Given the description of an element on the screen output the (x, y) to click on. 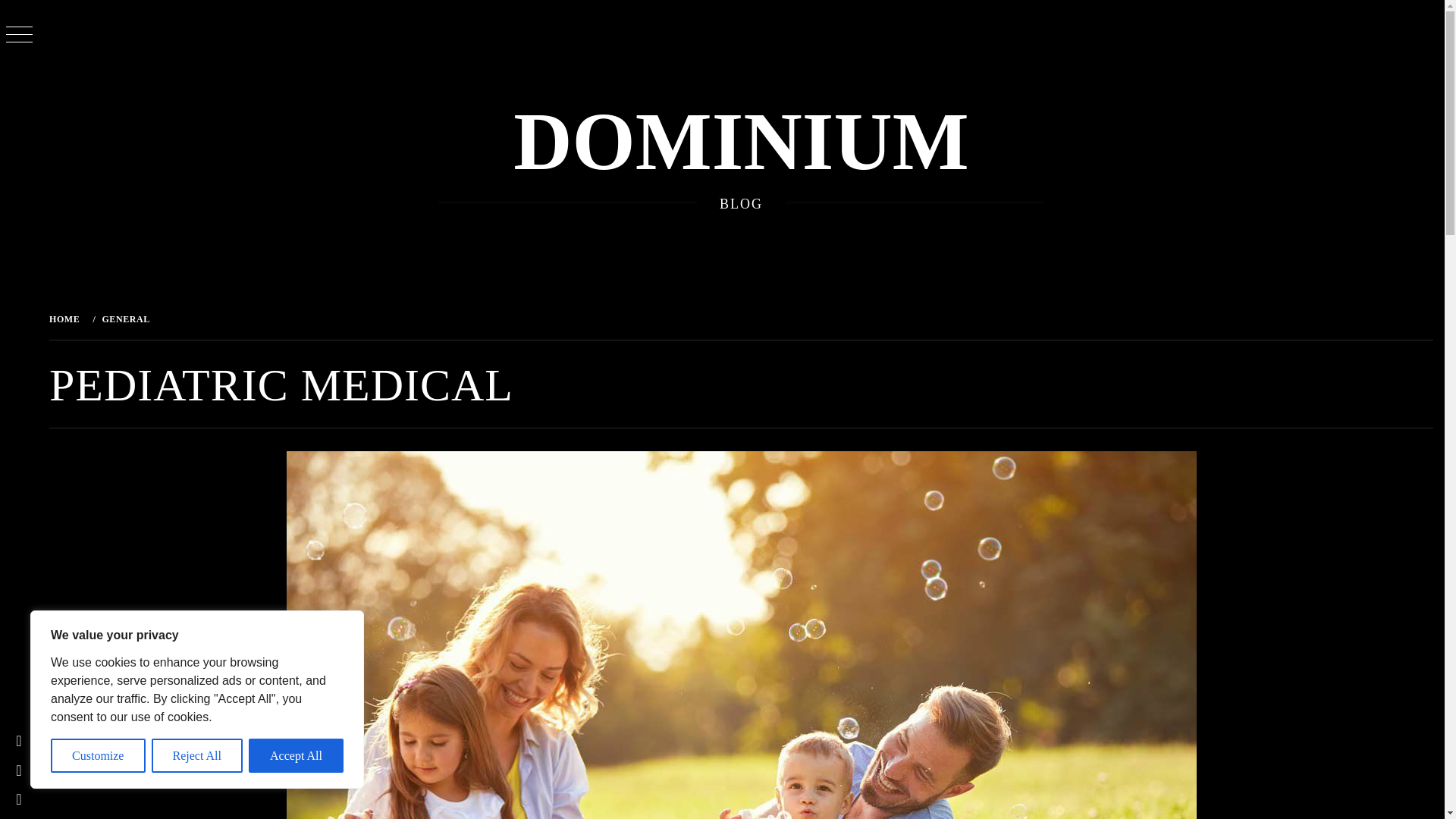
Reject All (197, 755)
DOMINIUM (740, 141)
Accept All (295, 755)
PEDIATRIC MEDICAL (222, 318)
Customize (97, 755)
GENERAL (124, 318)
HOME (66, 318)
